Given the description of an element on the screen output the (x, y) to click on. 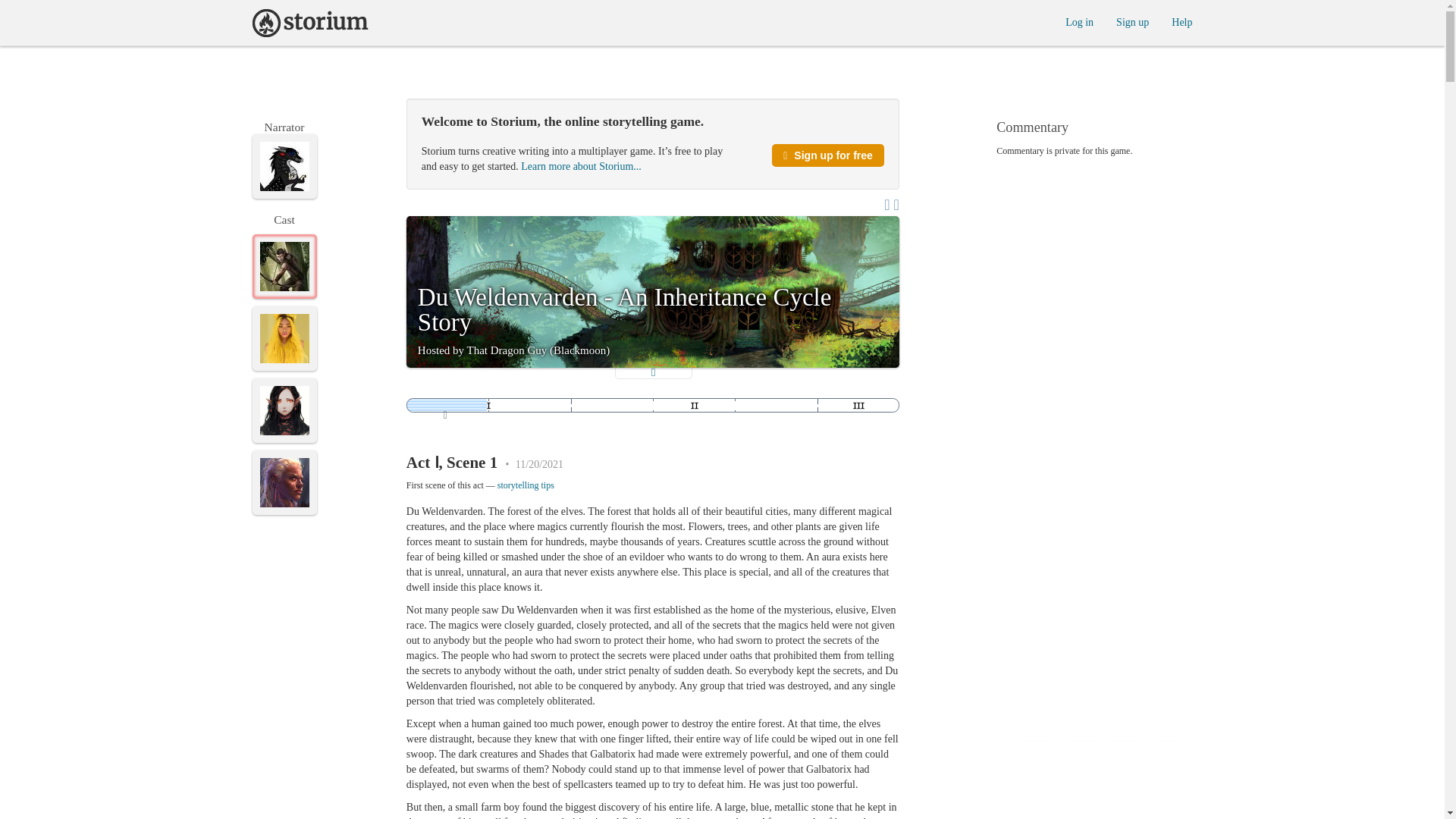
Caoimhe (283, 338)
Commentary is private for this game. (1087, 150)
Blackmoon (283, 165)
Log in (1079, 21)
Sign up (1132, 21)
storytelling tips (525, 484)
Vistra Thodrom (283, 481)
Game progress bar, click for details. (652, 405)
Learn more about Storium... (581, 165)
Help (1182, 21)
Blaetra (283, 266)
Halona Greftin (283, 409)
Sign up for free (827, 155)
